Given the description of an element on the screen output the (x, y) to click on. 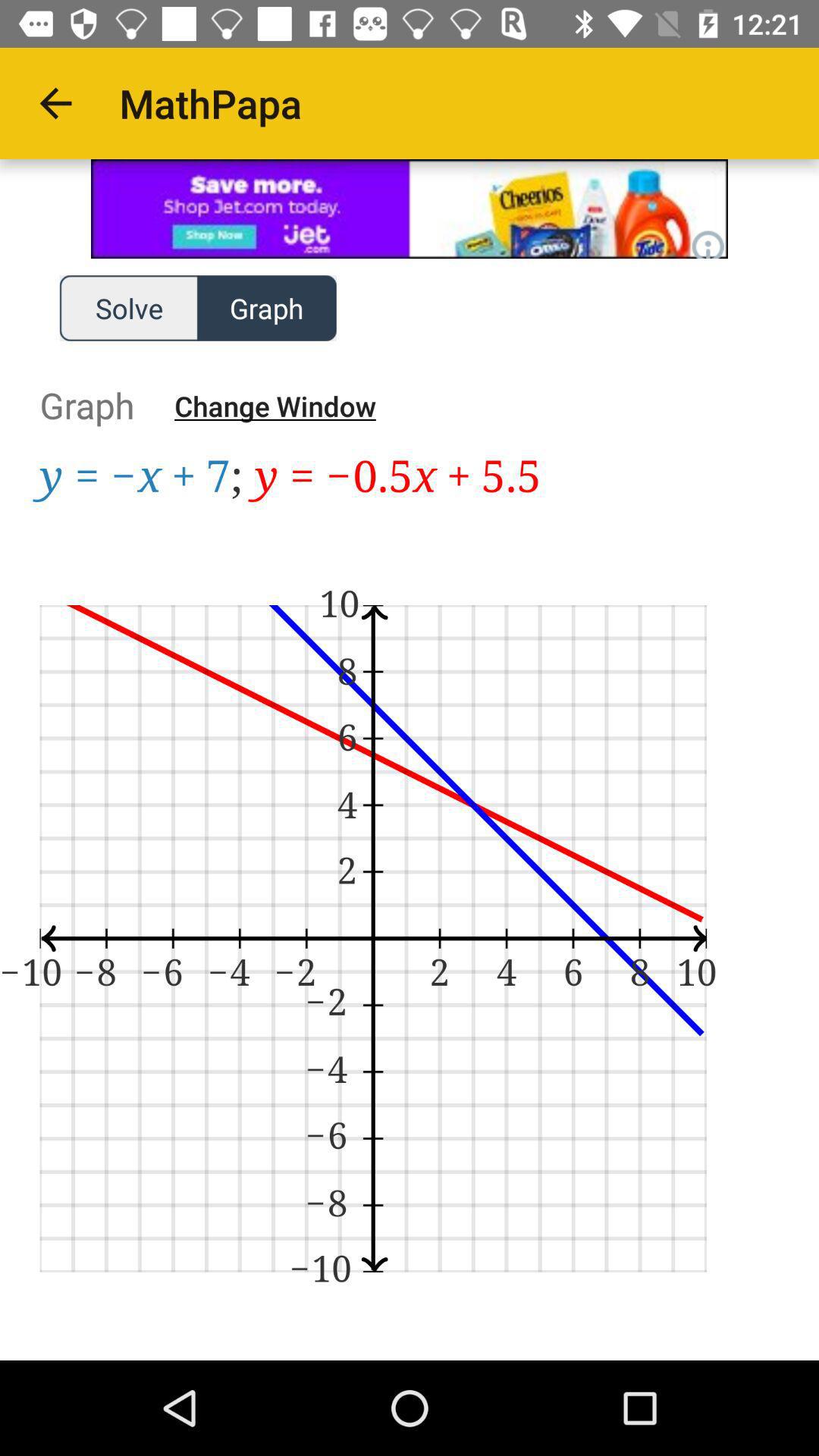
select jet advertisement (409, 208)
